Given the description of an element on the screen output the (x, y) to click on. 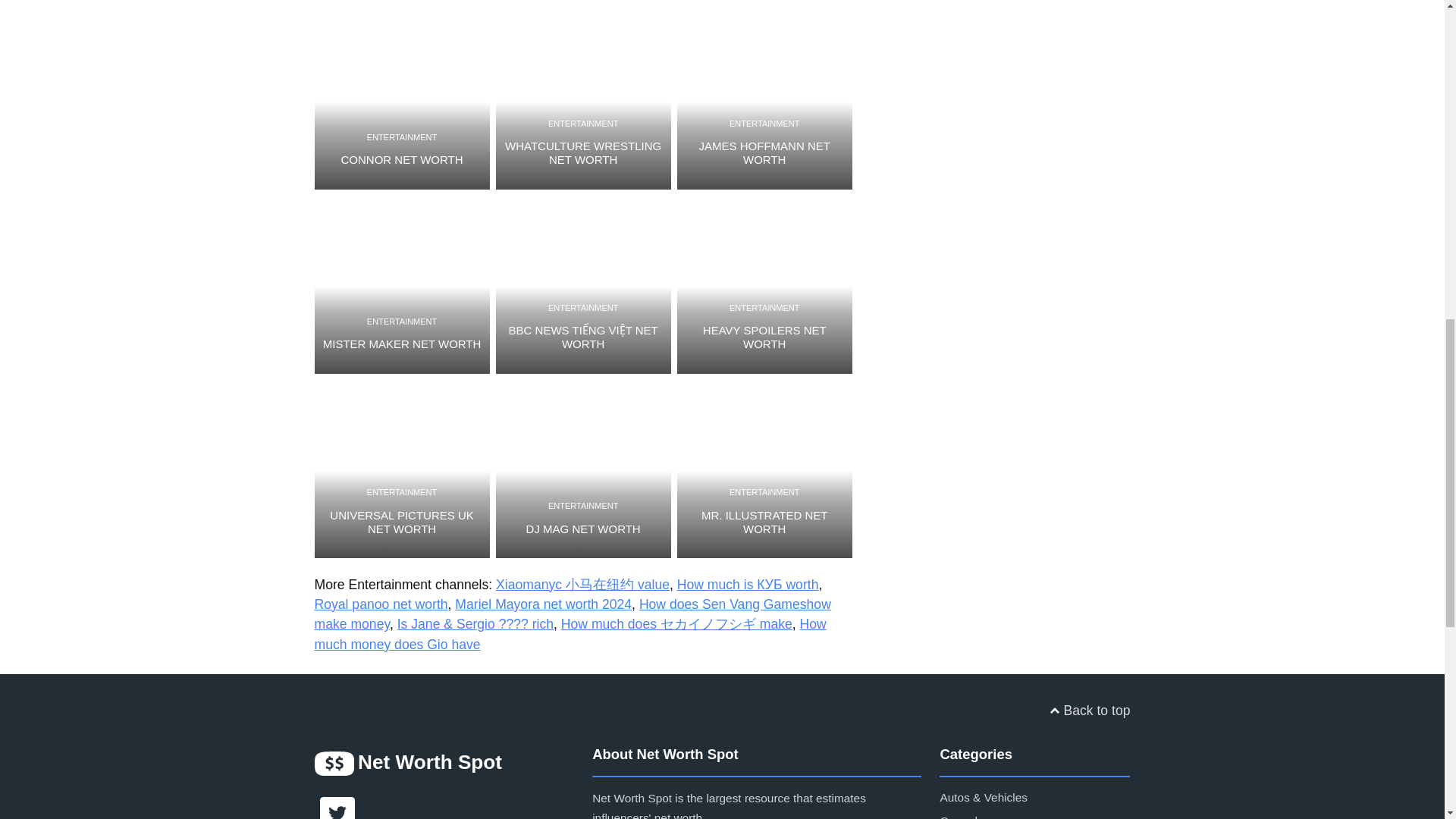
ENTERTAINMENT (402, 137)
James Hoffmann Net Worth (764, 101)
Heavy Spoilers Net Worth (764, 286)
DJ Mag Net Worth (583, 470)
MR. ILLUSTRATED Net Worth (764, 470)
Connor Net Worth (401, 101)
Universal Pictures UK Net Worth (401, 470)
WhatCulture Wrestling Net Worth (583, 101)
Mister Maker Net Worth (401, 286)
CONNOR NET WORTH (401, 160)
